Given the description of an element on the screen output the (x, y) to click on. 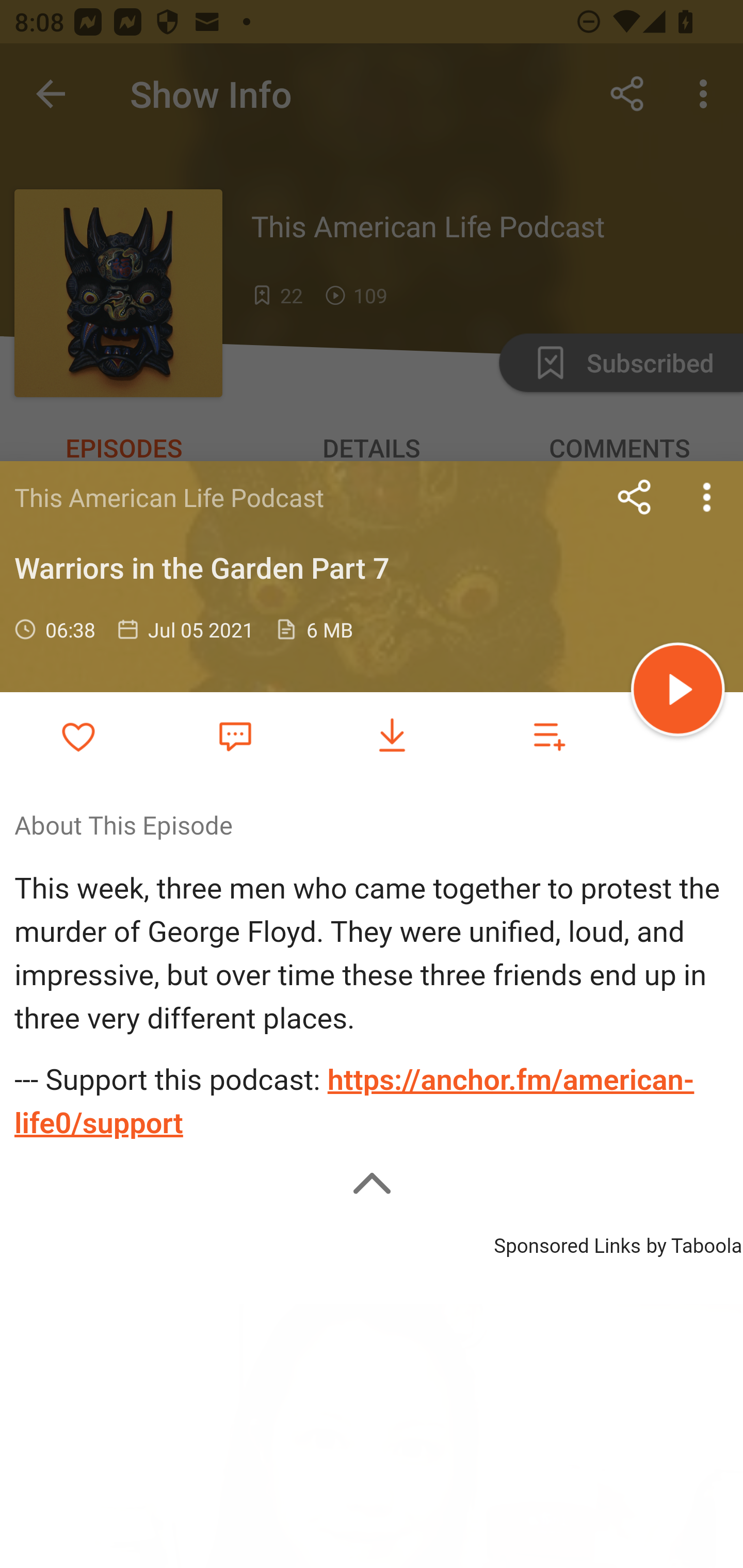
Share (634, 496)
more options (706, 496)
Play (677, 692)
Favorite (234, 735)
Add to Favorites (78, 735)
Download (391, 735)
Add to playlist (548, 735)
https://anchor.fm/american-life0/support (354, 1101)
Sponsored Links (566, 1243)
by Taboola (693, 1243)
